Given the description of an element on the screen output the (x, y) to click on. 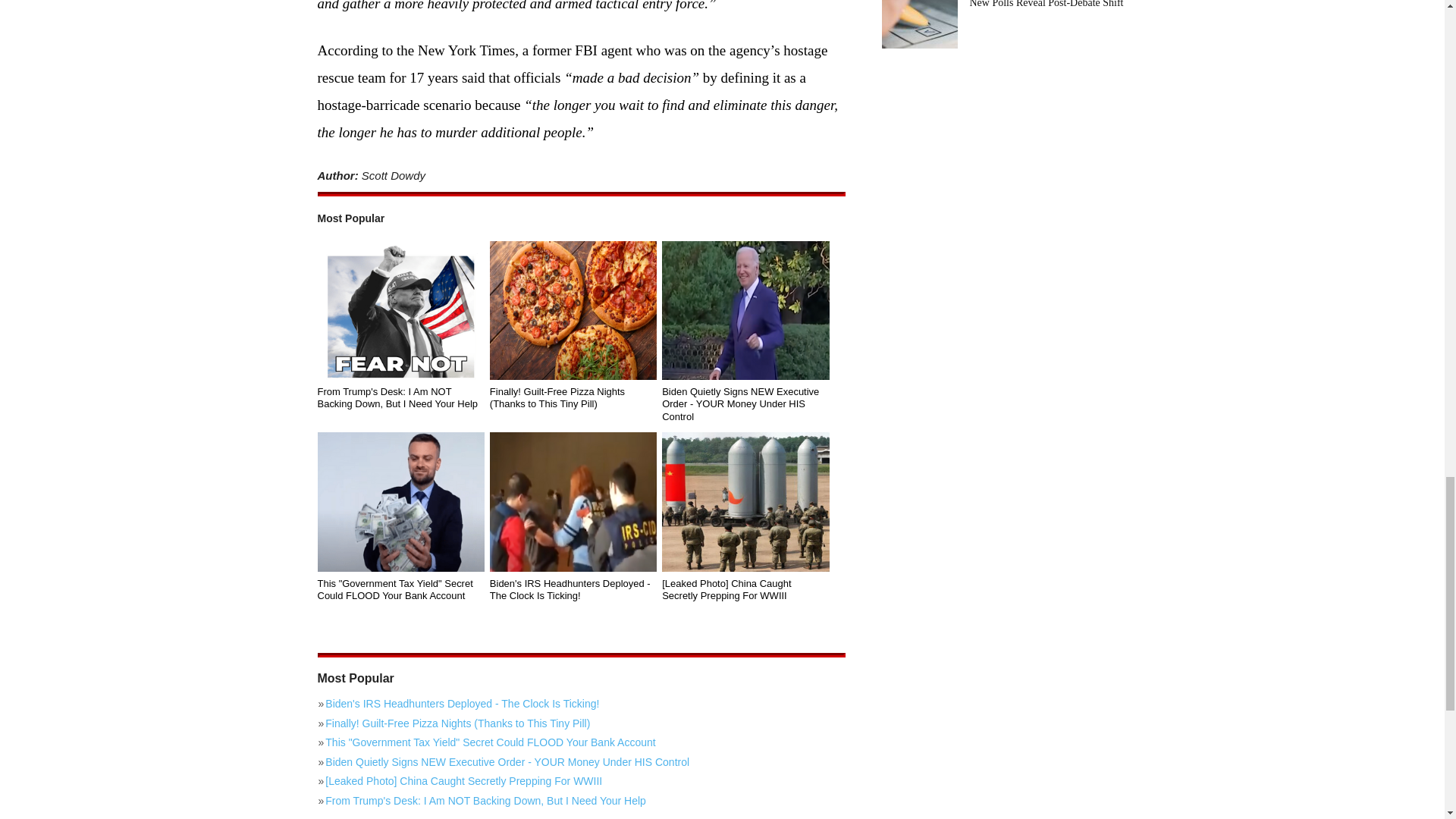
Biden's IRS Headhunters Deployed - The Clock Is Ticking! (572, 501)
Biden's IRS Headhunters Deployed - The Clock Is Ticking! (580, 703)
This  (400, 501)
Biden's IRS Headhunters Deployed - The Clock Is Ticking! (572, 589)
